Given the description of an element on the screen output the (x, y) to click on. 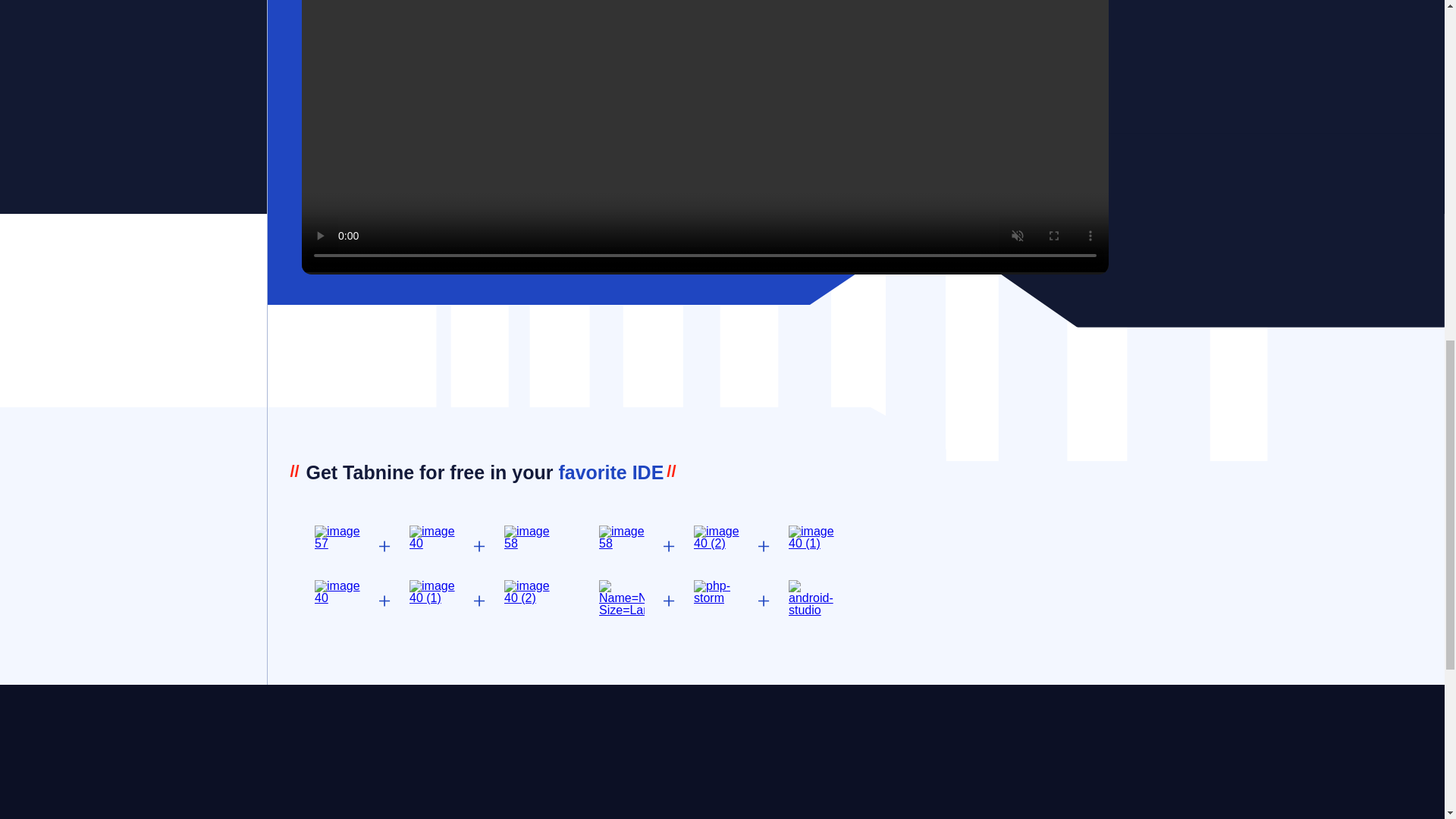
PyCharm (811, 537)
RubyMine (431, 591)
Visual Studio (621, 537)
CLion (526, 591)
VS Code (336, 537)
Eclipse (526, 537)
GoLand (336, 591)
WebStorm (716, 537)
IntelliJ (431, 537)
